Given the description of an element on the screen output the (x, y) to click on. 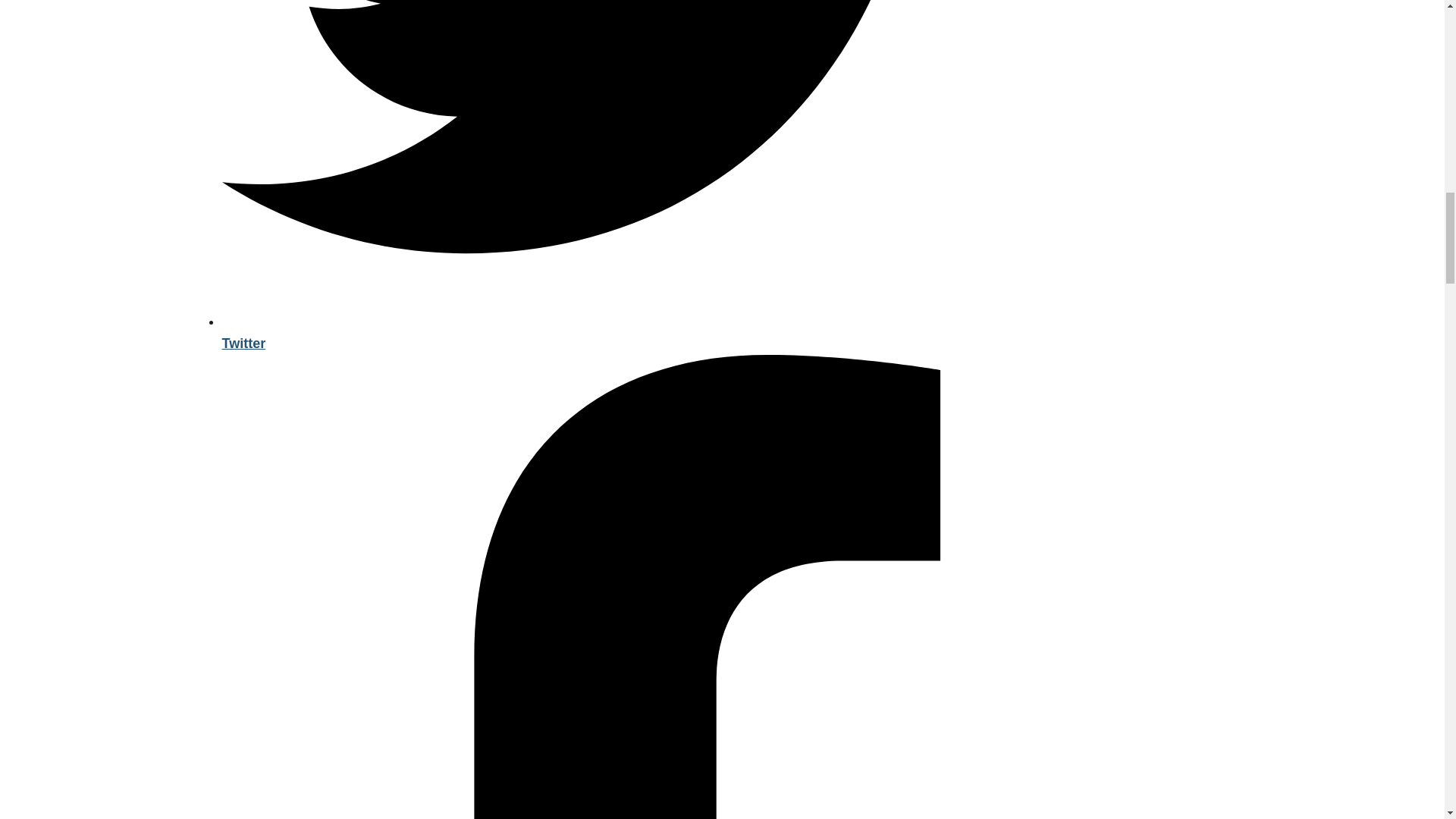
Twitter (607, 332)
